Given the description of an element on the screen output the (x, y) to click on. 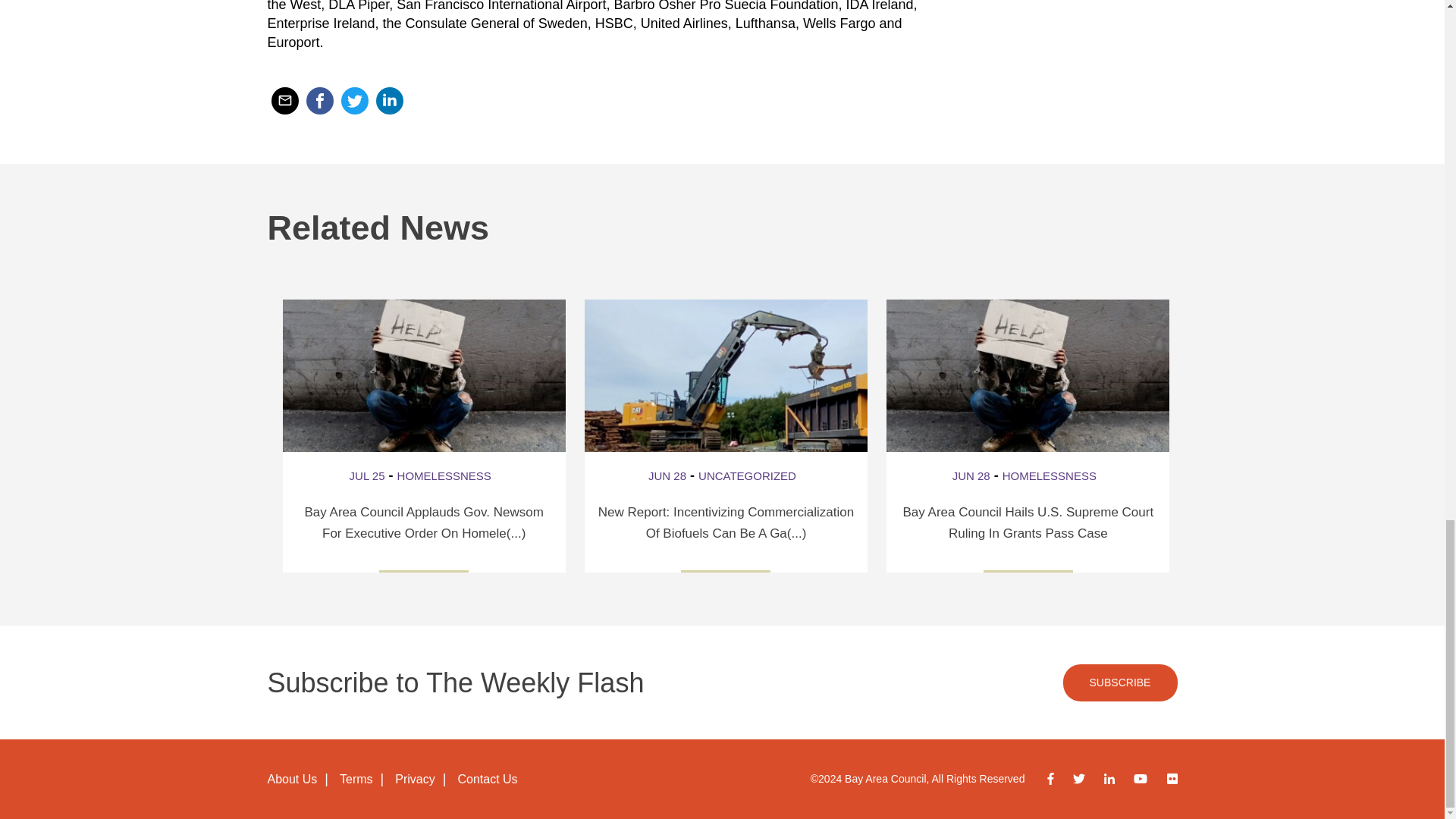
Share on Twitter (354, 99)
Share on LinkedIn (389, 99)
Email to a friend (284, 99)
Share on Facebook (319, 99)
